Given the description of an element on the screen output the (x, y) to click on. 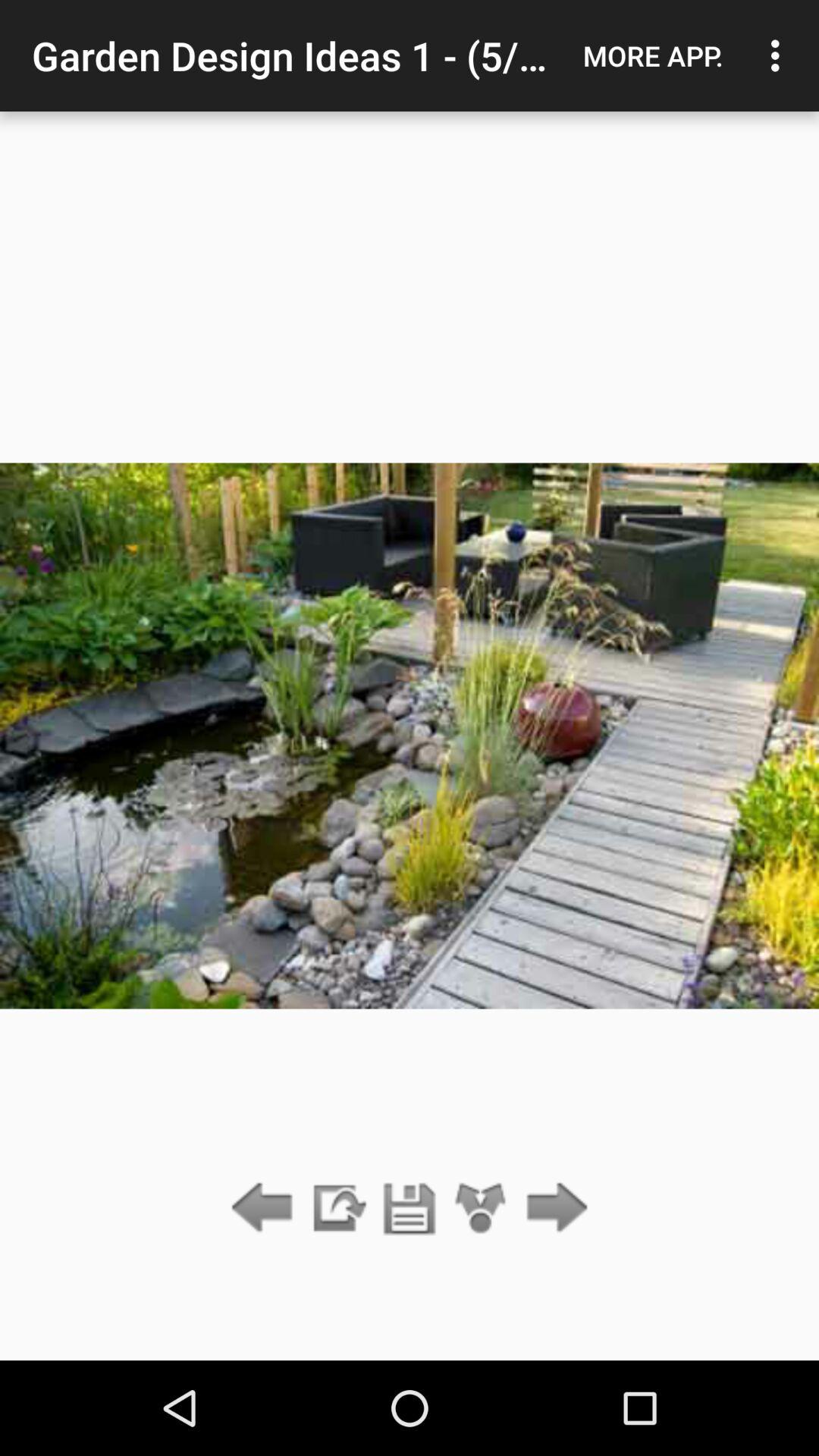
share image (337, 1208)
